Given the description of an element on the screen output the (x, y) to click on. 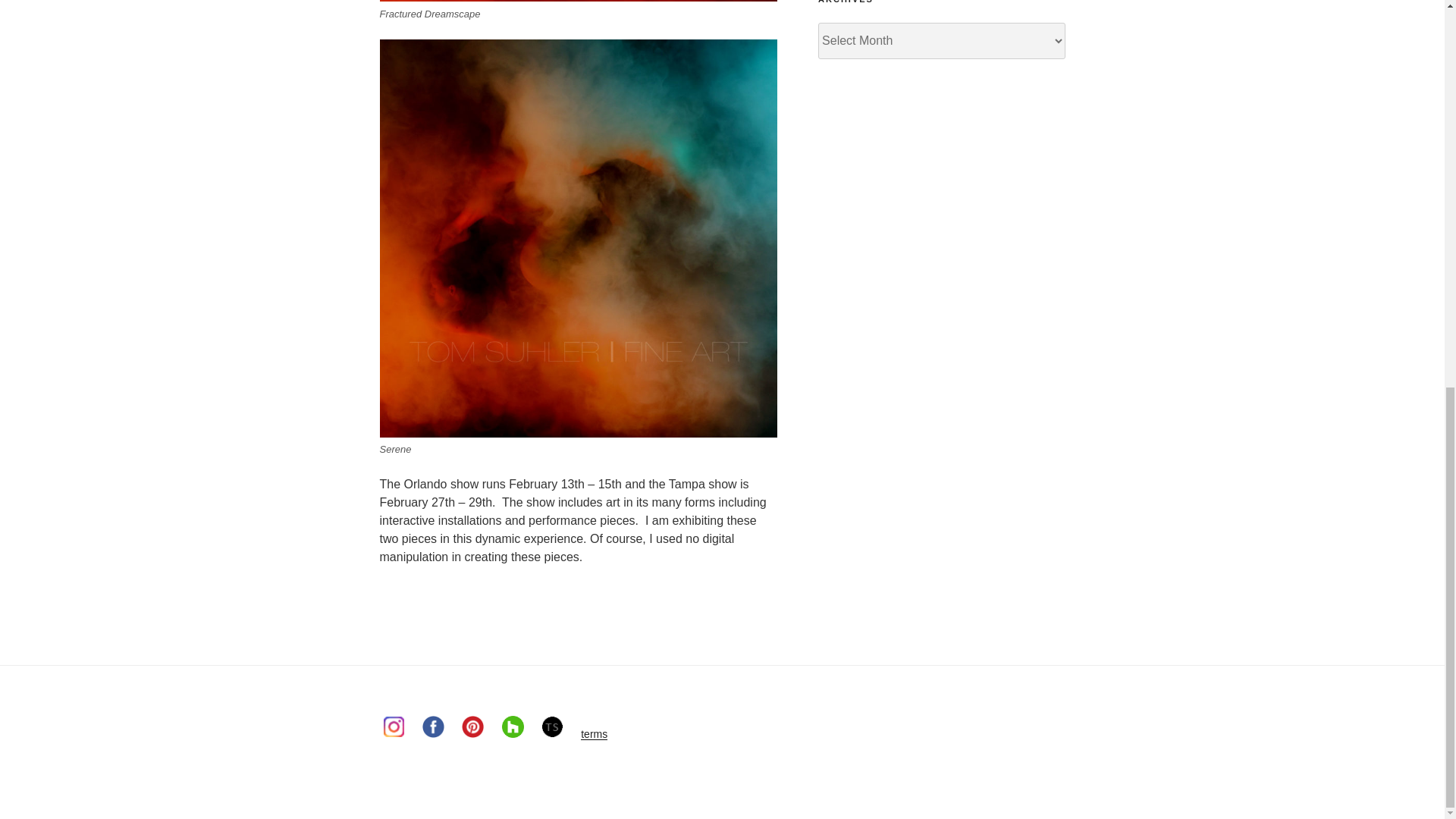
terms (593, 734)
